Given the description of an element on the screen output the (x, y) to click on. 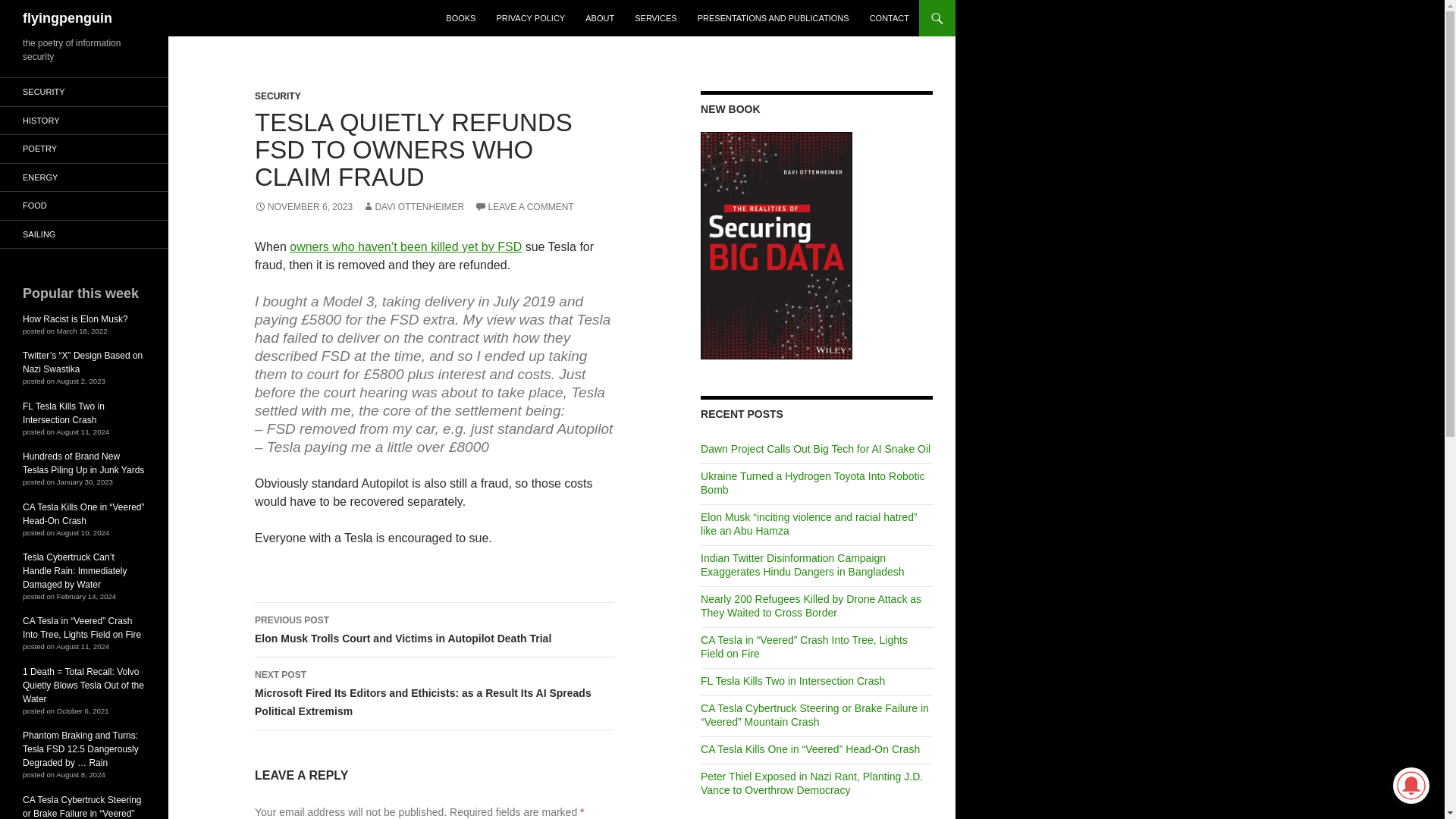
FL Tesla Kills Two in Intersection Crash (792, 680)
SERVICES (655, 18)
NOVEMBER 6, 2023 (303, 206)
DAVI OTTENHEIMER (413, 206)
BOOKS (460, 18)
ABOUT (599, 18)
